Given the description of an element on the screen output the (x, y) to click on. 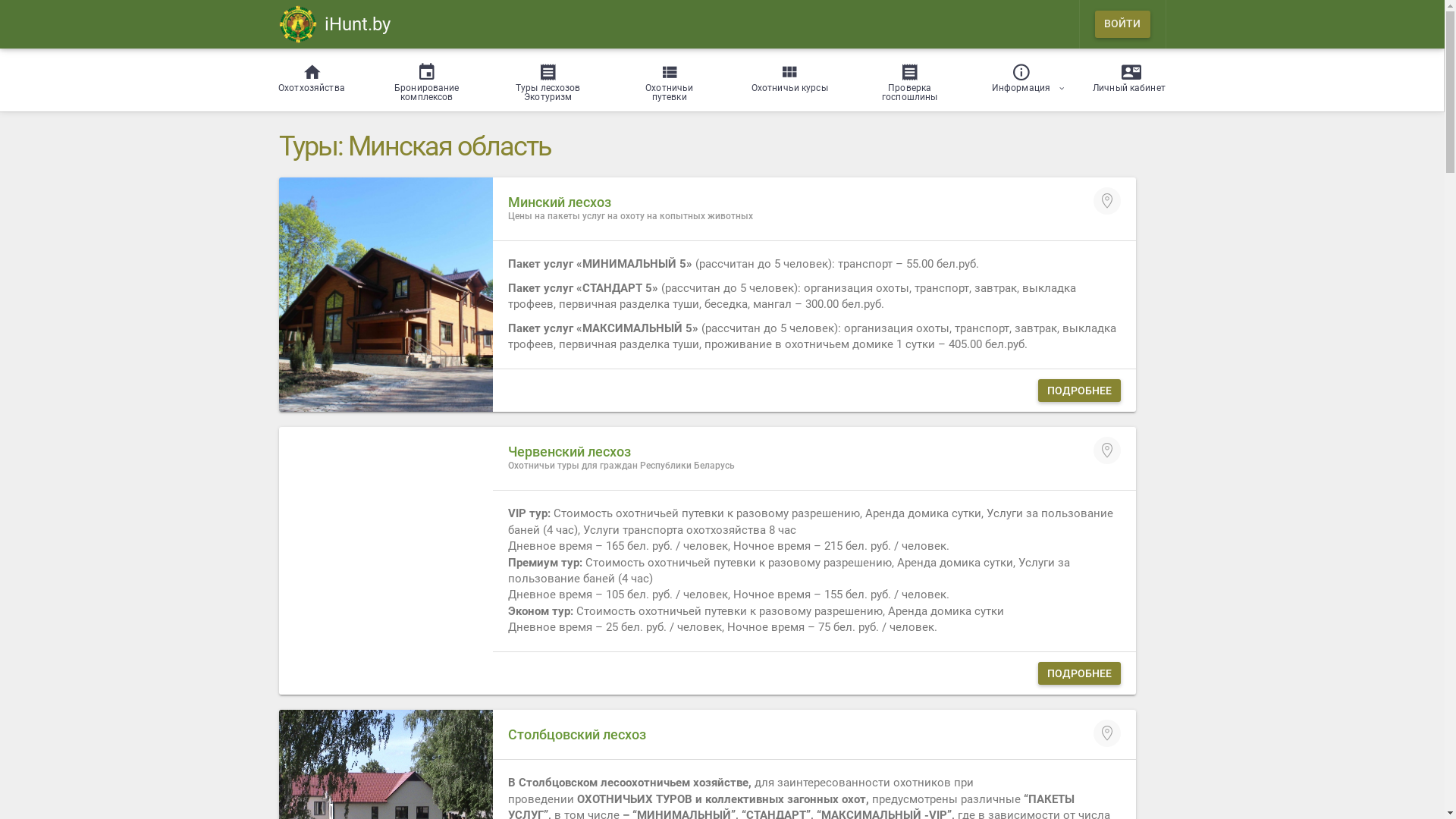
iHunt.by Element type: text (334, 24)
